Given the description of an element on the screen output the (x, y) to click on. 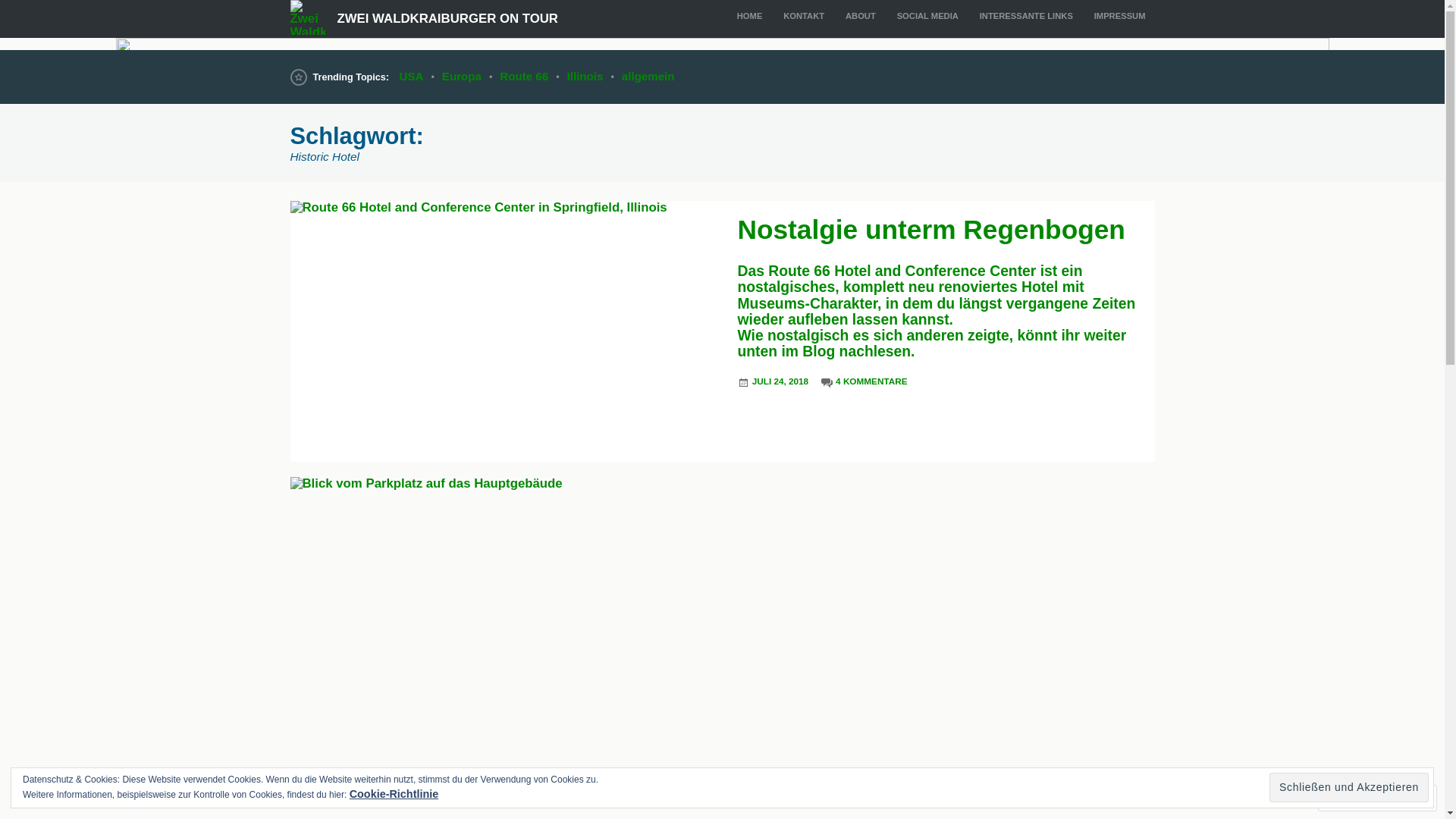
USA Element type: text (411, 76)
ABOUT Element type: text (860, 15)
KONTAKT Element type: text (803, 15)
4 KOMMENTARE Element type: text (870, 382)
Nostalgie unterm Regenbogen Element type: text (930, 229)
Route 66 Element type: text (523, 76)
SOCIAL MEDIA Element type: text (927, 15)
Europa Element type: text (461, 76)
HOME Element type: text (749, 15)
Abonnieren Element type: text (1363, 797)
JULI 24, 2018 Element type: text (780, 382)
ZWEI WALDKRAIBURGER ON TOUR Element type: text (446, 18)
Cookie-Richtlinie Element type: text (394, 793)
IMPRESSUM Element type: text (1119, 15)
Zwei Waldkraiburger on Tour Element type: hover (722, 43)
allgemein Element type: text (647, 76)
INTERESSANTE LINKS Element type: text (1026, 15)
Illinois Element type: text (585, 76)
